Given the description of an element on the screen output the (x, y) to click on. 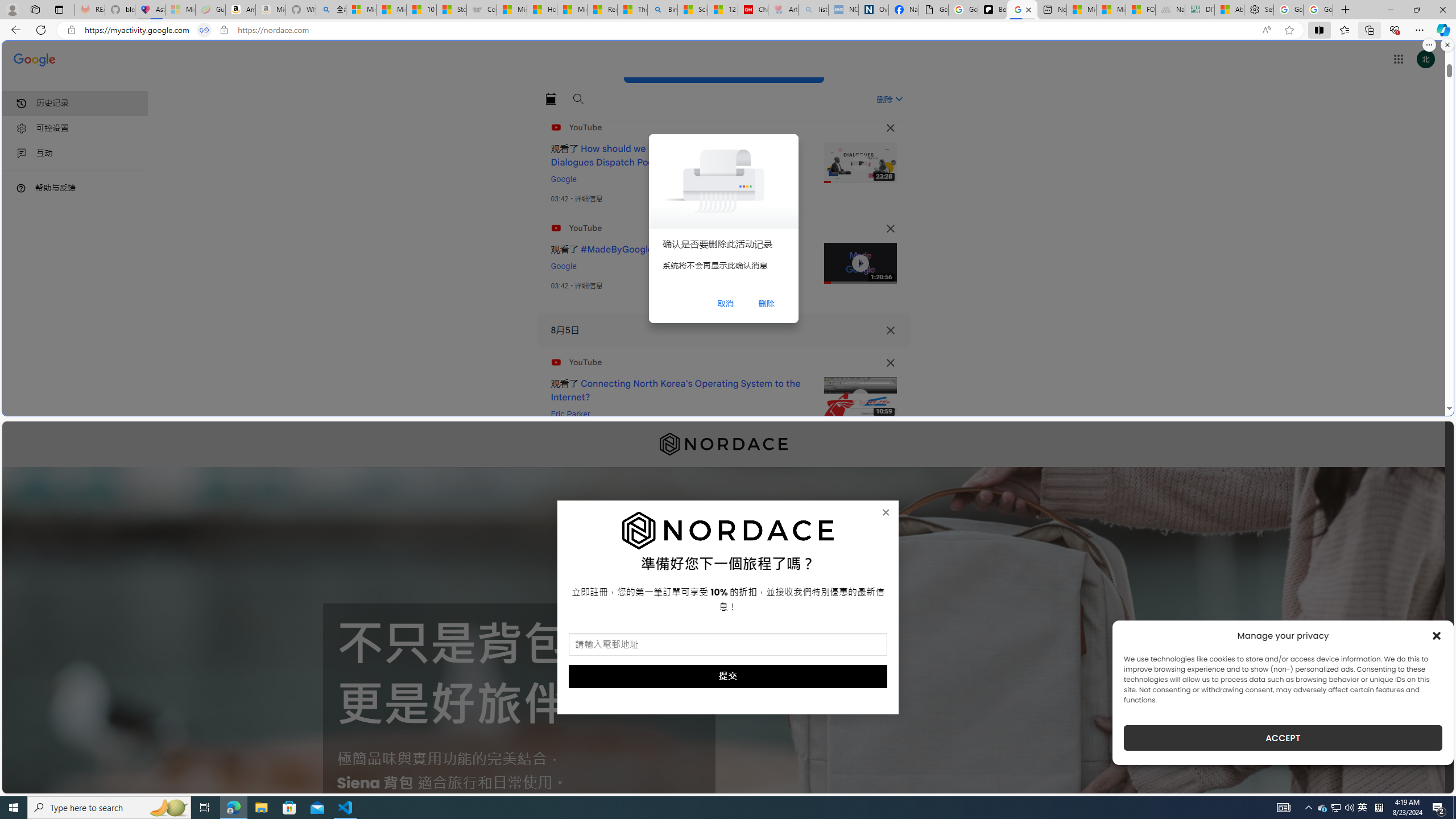
Google Analytics Opt-out Browser Add-on Download Page (933, 9)
list of asthma inhalers uk - Search - Sleeping (812, 9)
Microsoft-Report a Concern to Bing - Sleeping (180, 9)
Class: TjcpUd NMm5M (889, 362)
